Given the description of an element on the screen output the (x, y) to click on. 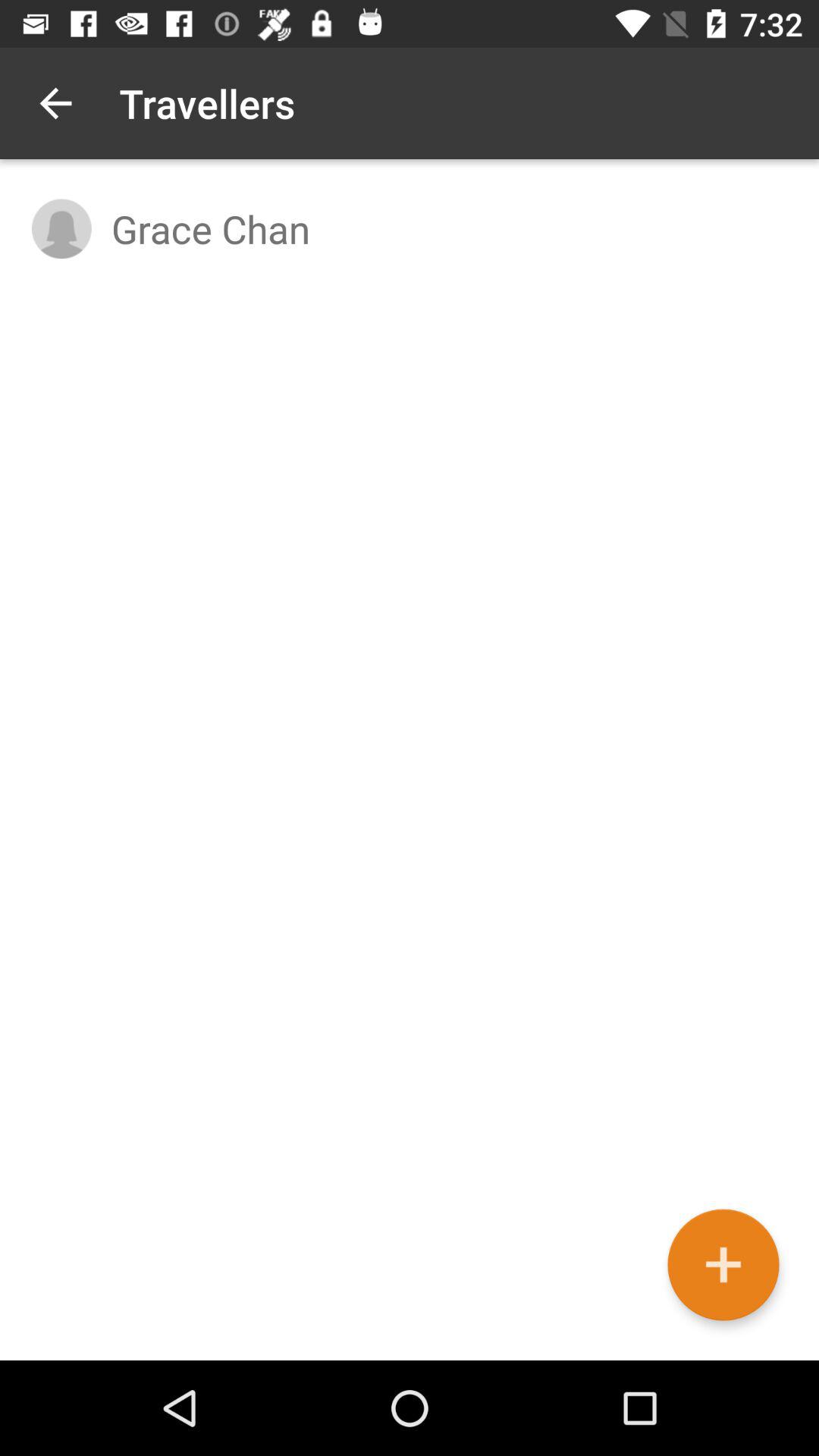
scroll until grace chan item (449, 228)
